Given the description of an element on the screen output the (x, y) to click on. 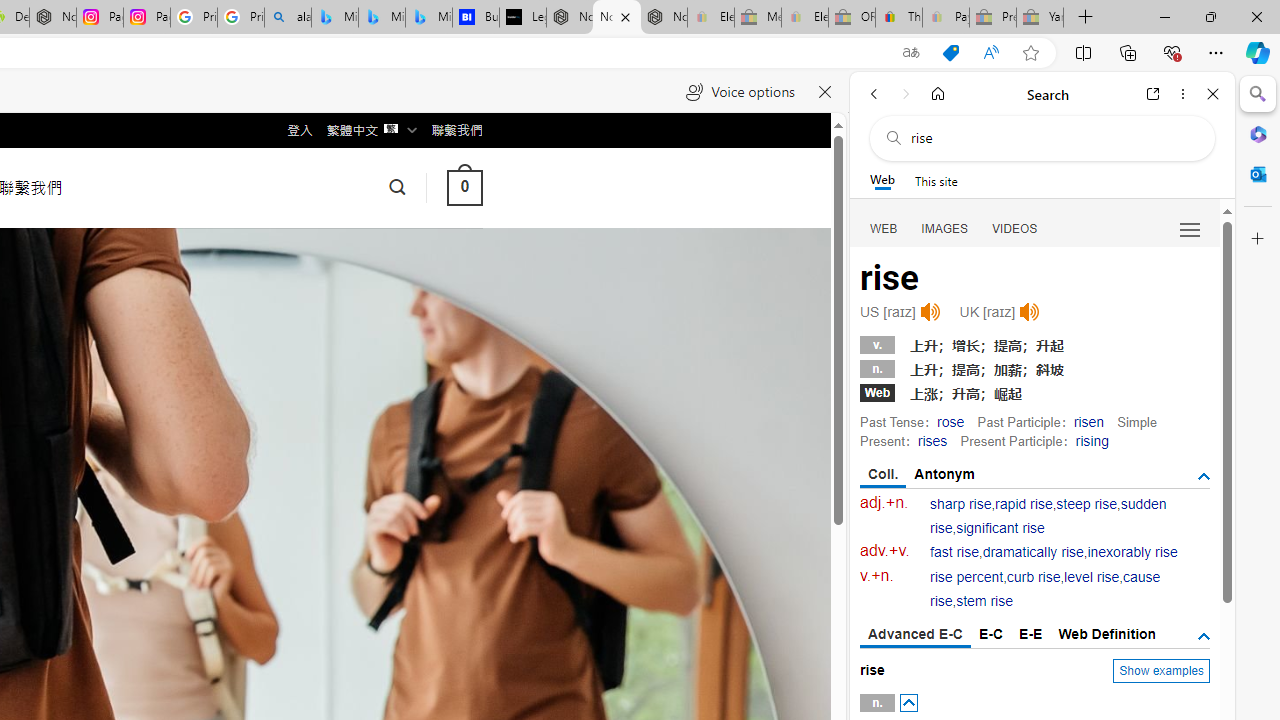
Coll. (883, 475)
rises (932, 440)
